Given the description of an element on the screen output the (x, y) to click on. 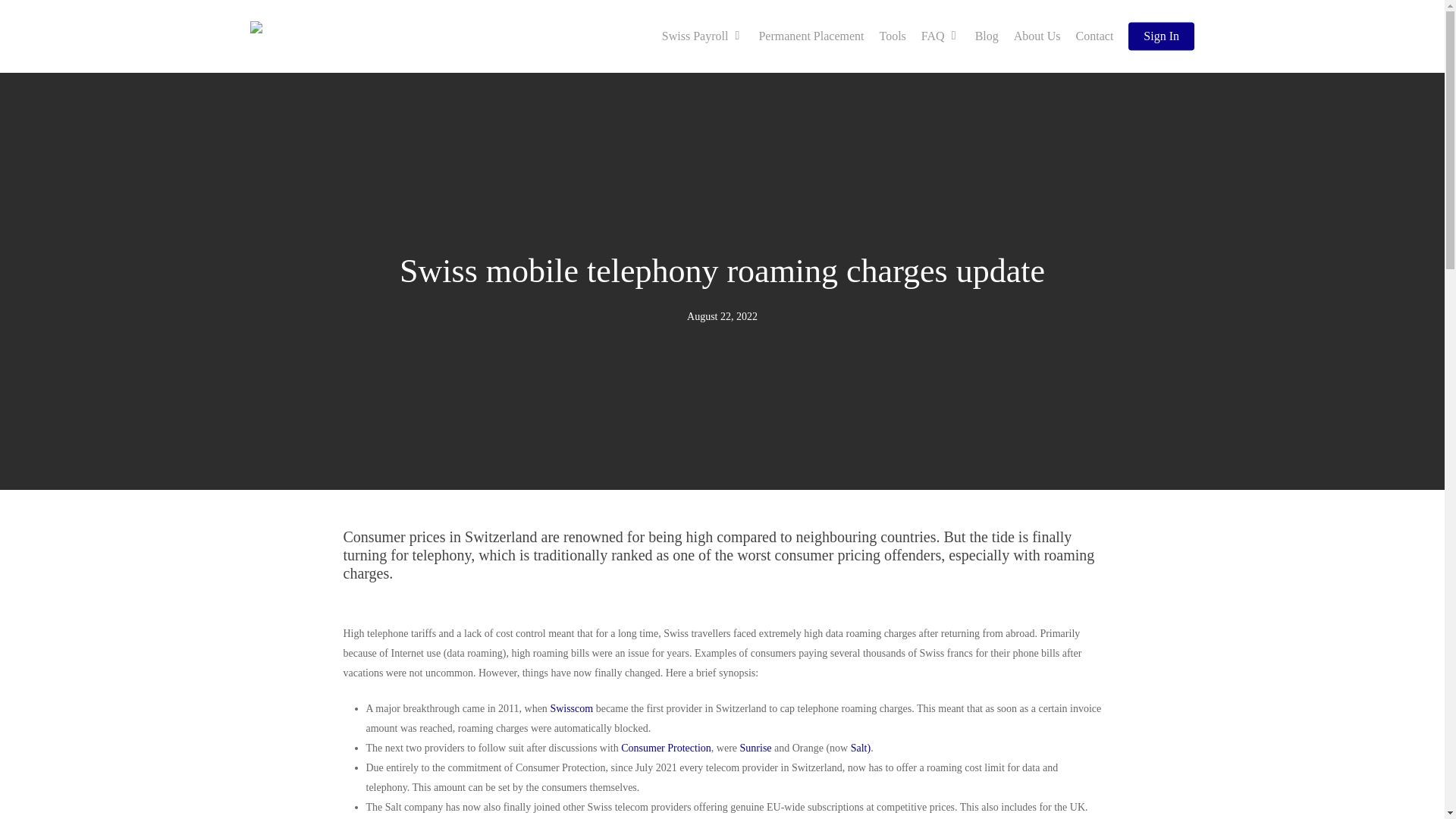
Sunrise (755, 747)
Swiss Payroll (702, 36)
Tools (893, 36)
FAQ (941, 36)
Permanent Placement (810, 36)
Swisscom (571, 708)
Sign In (1160, 36)
Consumer Protection (666, 747)
Blog (987, 36)
Contact (1094, 36)
About Us (1037, 36)
